Given the description of an element on the screen output the (x, y) to click on. 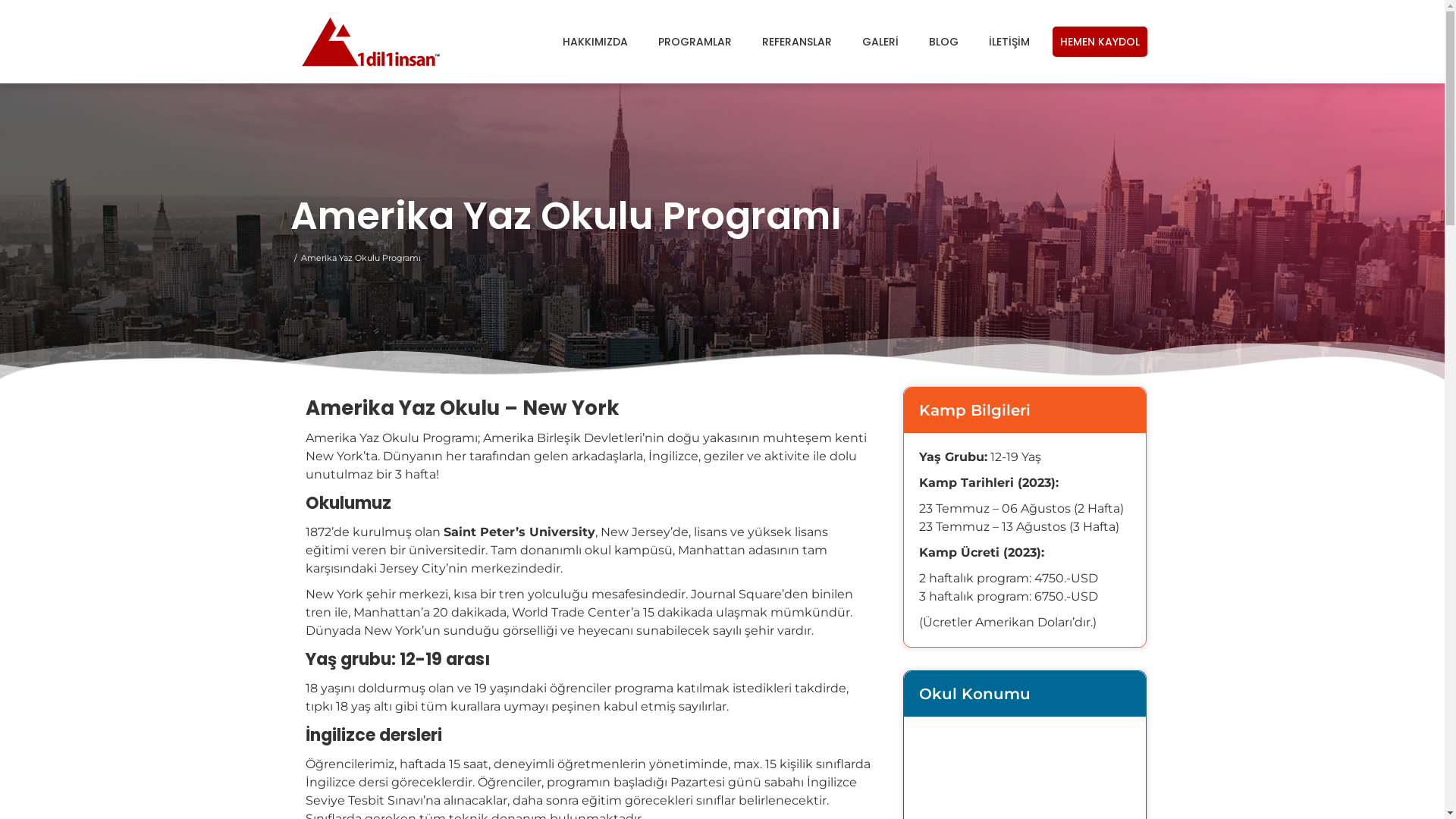
PROGRAMLAR Element type: text (694, 41)
BLOG Element type: text (942, 41)
HAKKIMIZDA Element type: text (595, 41)
REFERANSLAR Element type: text (795, 41)
HEMEN KAYDOL Element type: text (1099, 41)
